Given the description of an element on the screen output the (x, y) to click on. 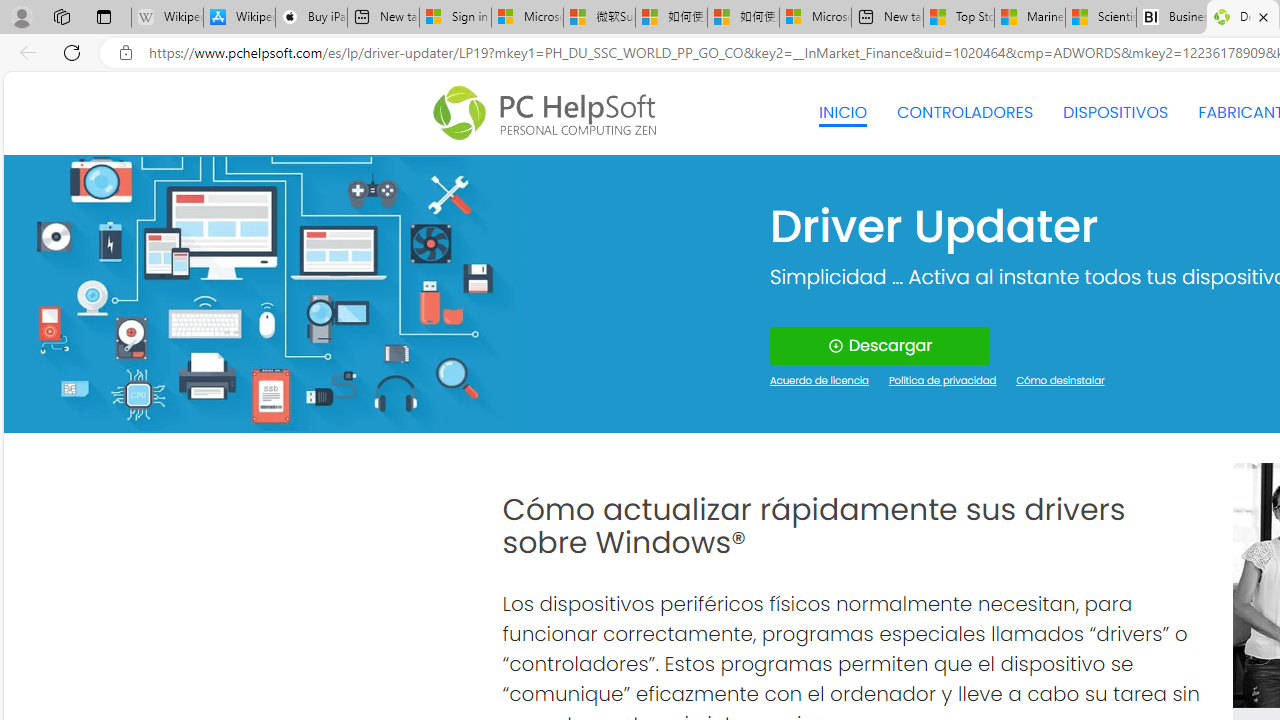
Download Icon Descargar (879, 345)
Top Stories - MSN (959, 17)
